Given the description of an element on the screen output the (x, y) to click on. 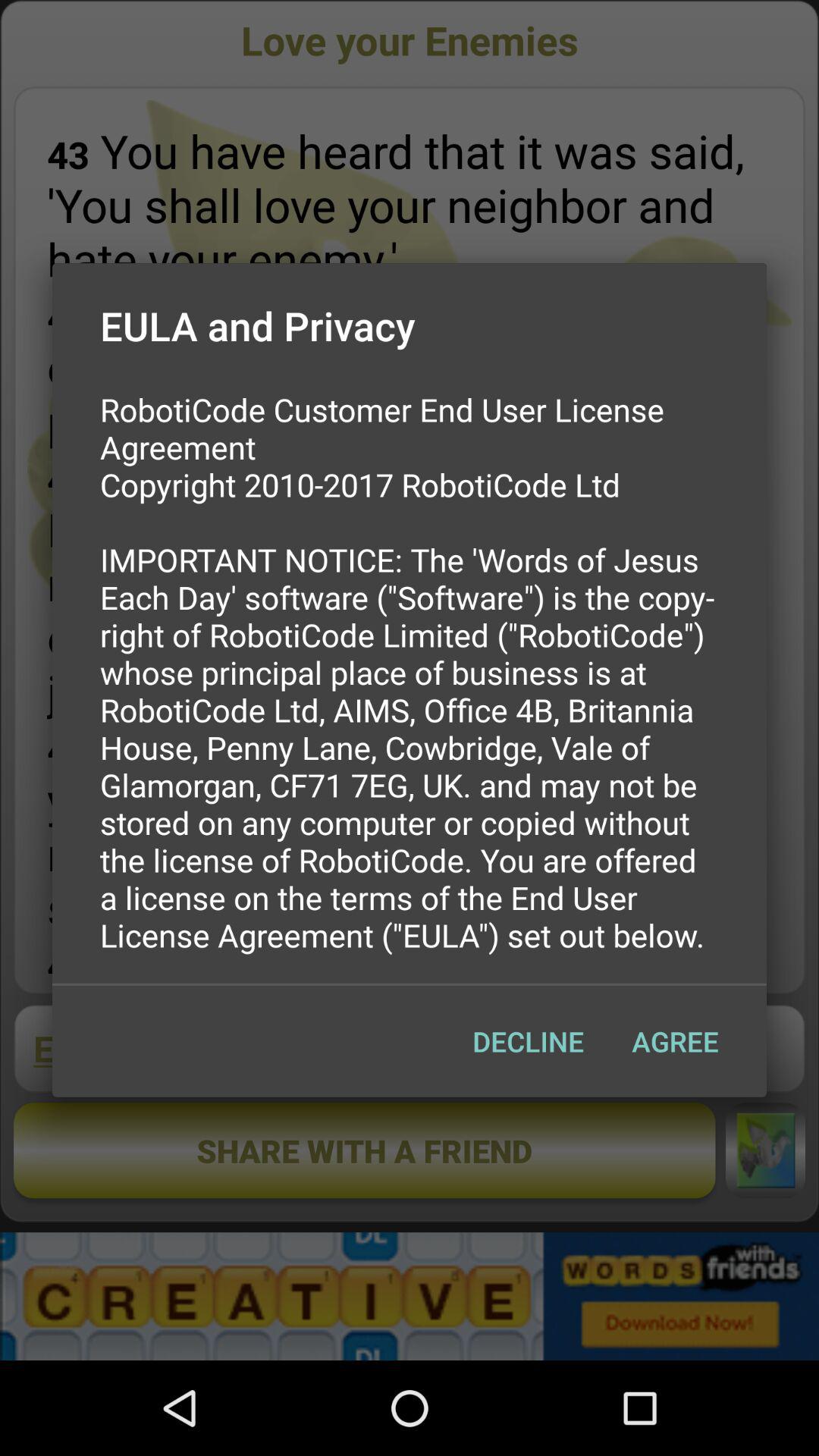
scroll to decline item (527, 1041)
